Given the description of an element on the screen output the (x, y) to click on. 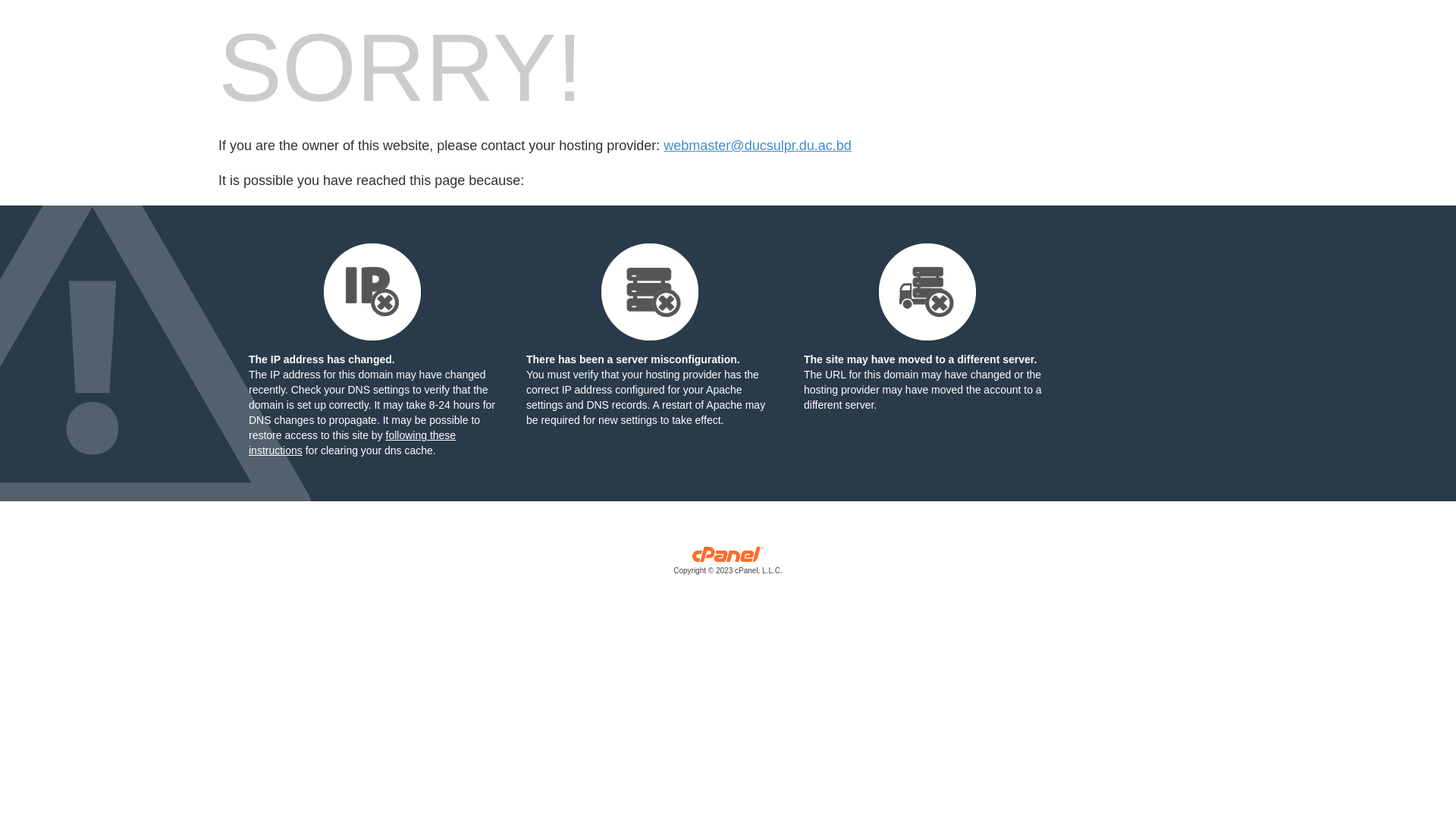
webmaster@ducsulpr.du.ac.bd Element type: text (756, 145)
following these instructions Element type: text (351, 442)
